Given the description of an element on the screen output the (x, y) to click on. 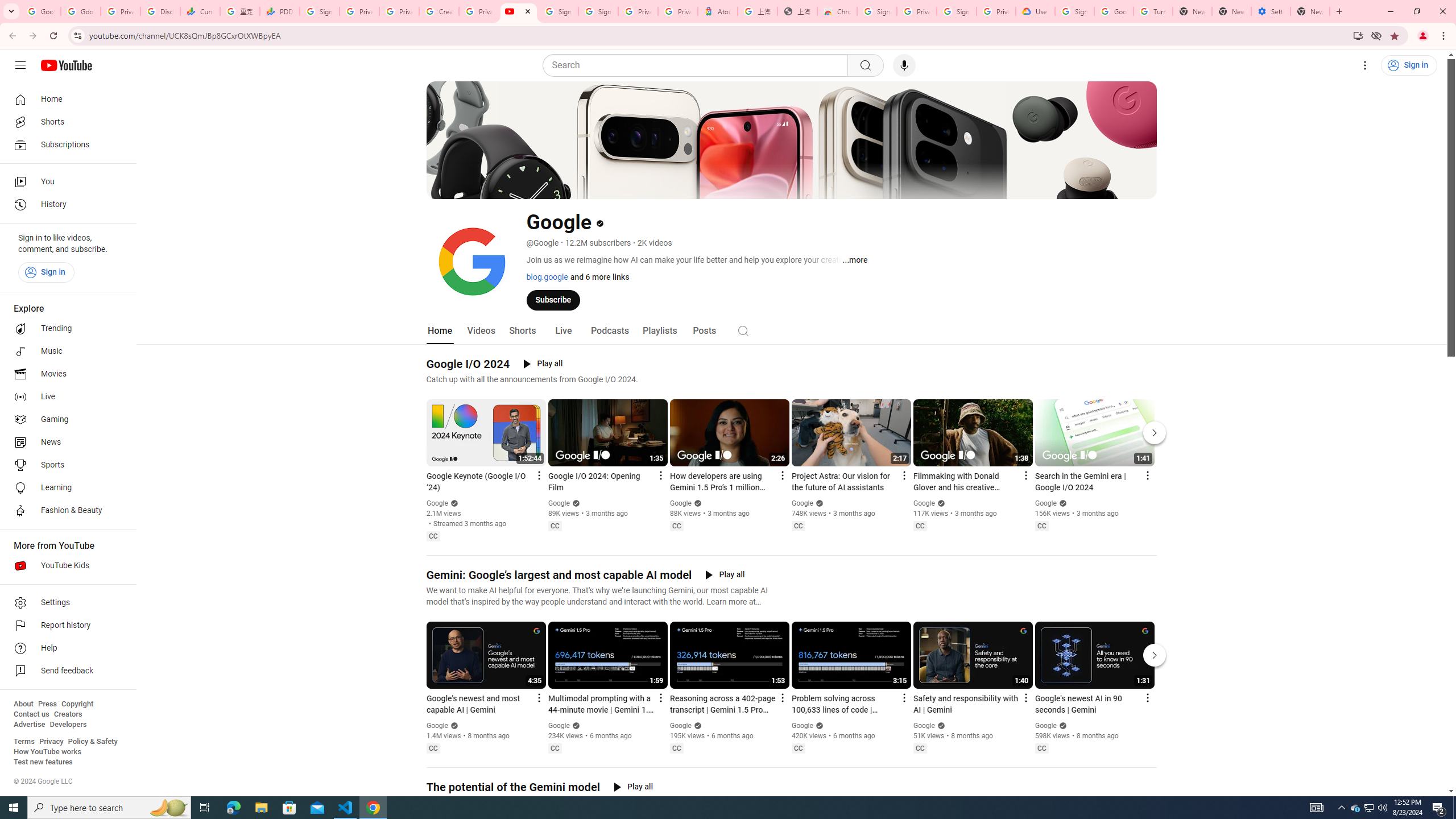
Sign in - Google Accounts (876, 11)
Next (1154, 654)
Shorts (521, 330)
Podcasts (608, 330)
New Tab (1310, 11)
About (23, 703)
Google I/O 2024 (467, 363)
